Given the description of an element on the screen output the (x, y) to click on. 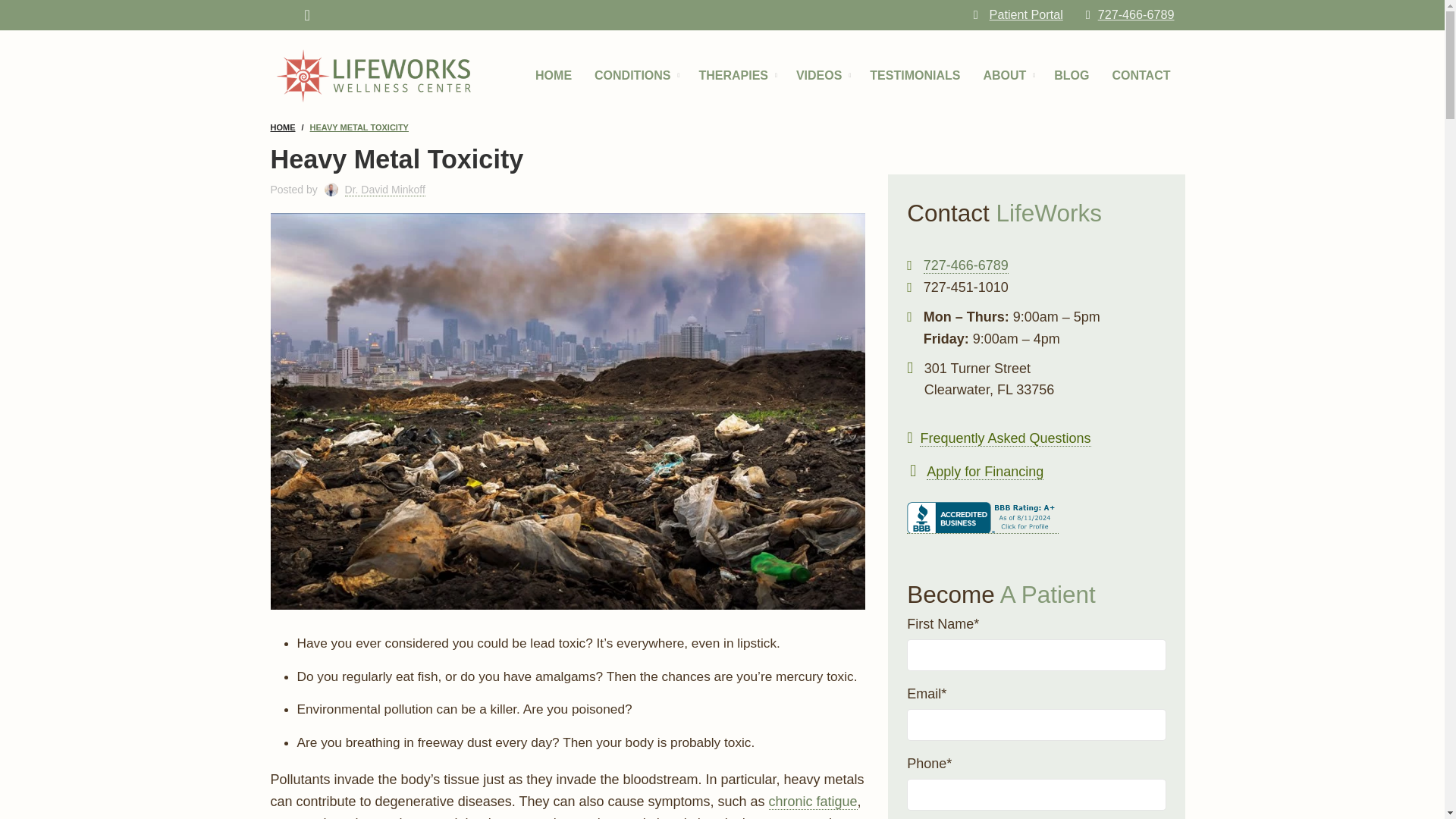
Patient Portal (1018, 14)
CONDITIONS (635, 75)
Search (287, 15)
HOME (553, 75)
727-466-6789 (1130, 14)
